Given the description of an element on the screen output the (x, y) to click on. 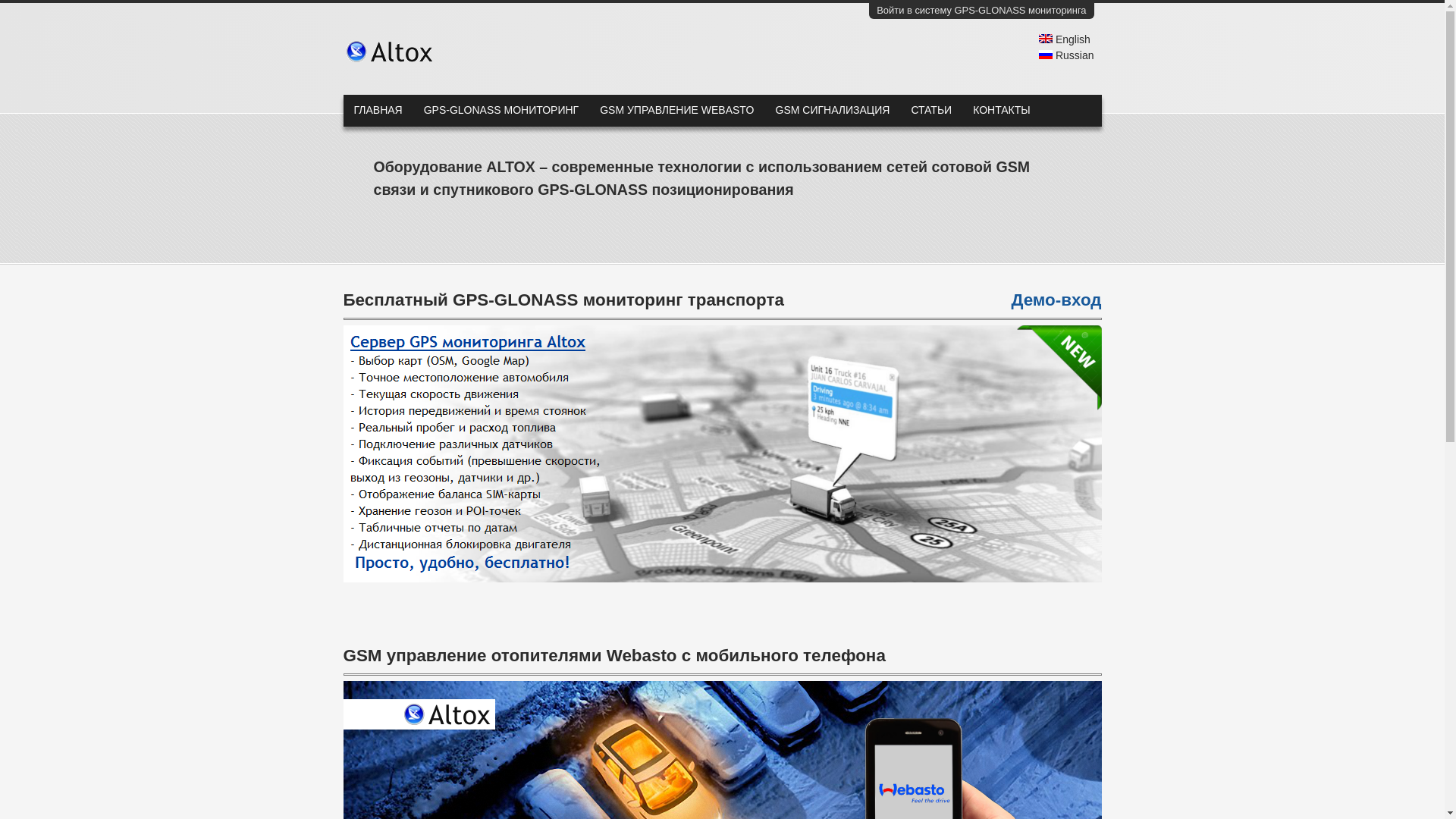
 Russian Element type: text (1065, 55)
Altox Element type: text (368, 51)
 English Element type: text (1064, 39)
